Given the description of an element on the screen output the (x, y) to click on. 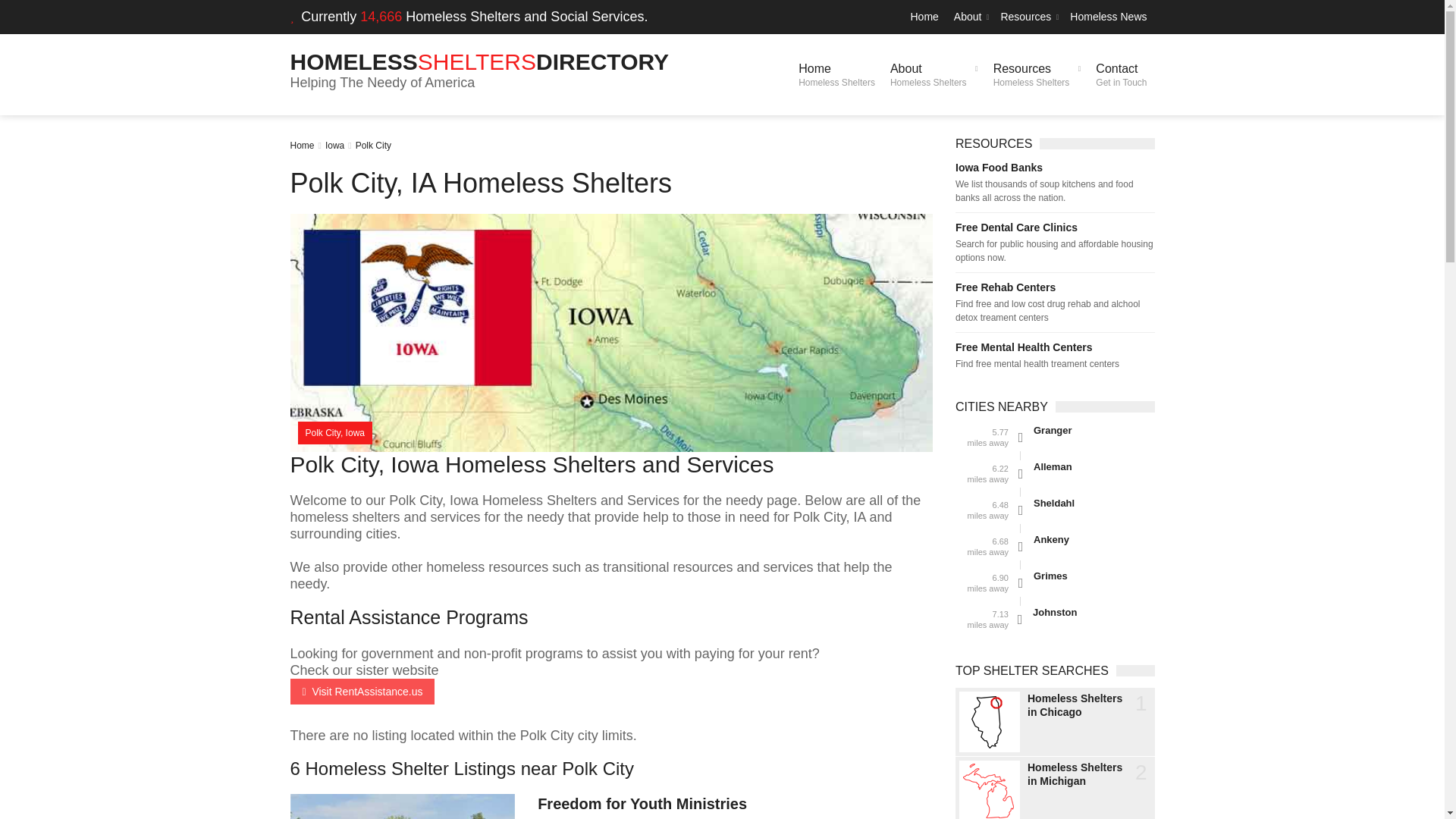
Resources (1027, 17)
Freedom for Youth Ministries (1120, 74)
HOMELESSSHELTERSDIRECTORY (641, 803)
About (478, 61)
Iowa (1037, 74)
Polk City (969, 17)
Home (933, 74)
